Given the description of an element on the screen output the (x, y) to click on. 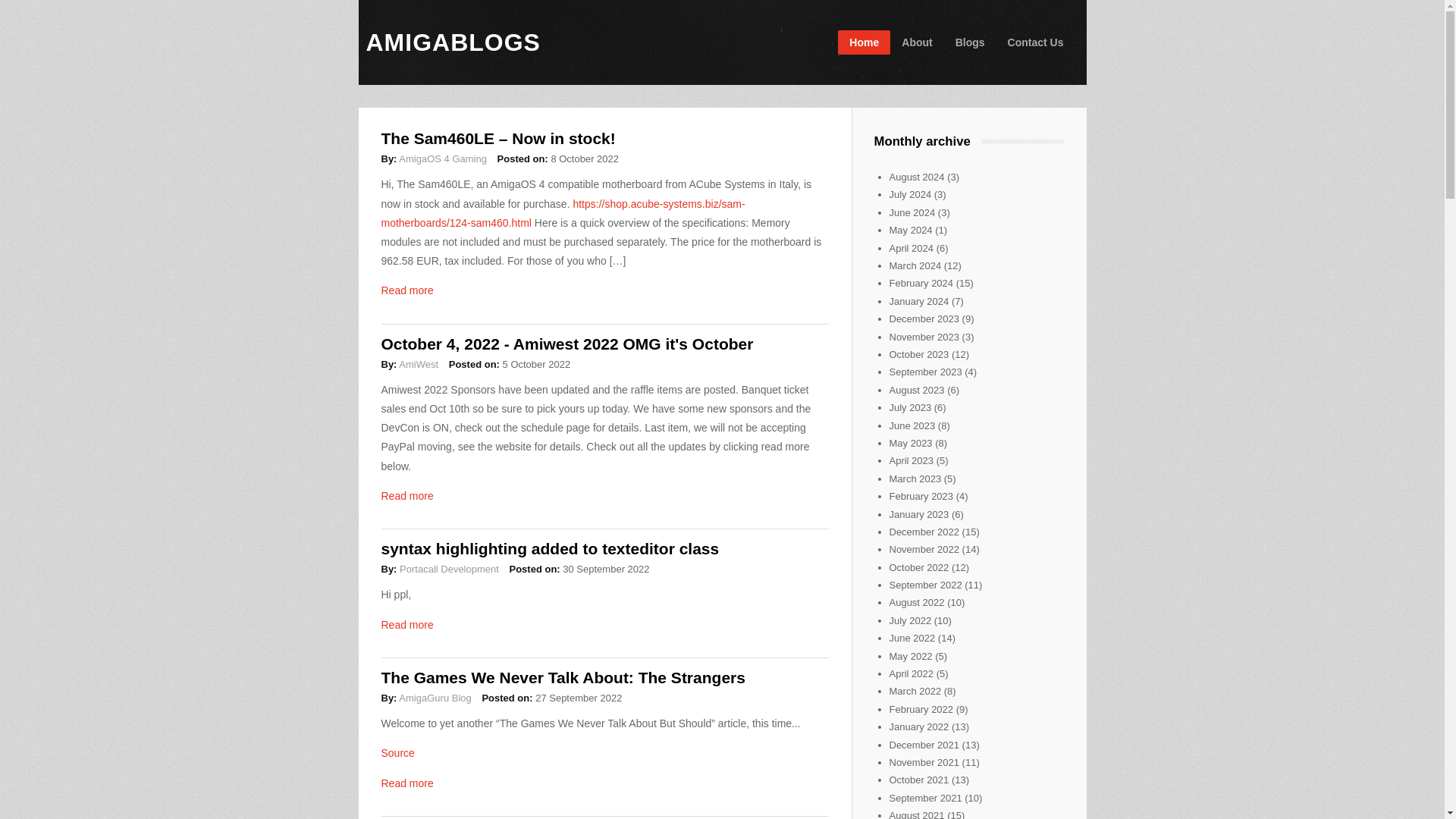
Blogs (969, 42)
About (916, 42)
Contact Us (1035, 42)
Read more (406, 495)
Read more (406, 290)
October 4, 2022 - Amiwest 2022 OMG it's October (566, 343)
Home (452, 42)
Home (863, 42)
Read more (406, 624)
Source (396, 752)
